Given the description of an element on the screen output the (x, y) to click on. 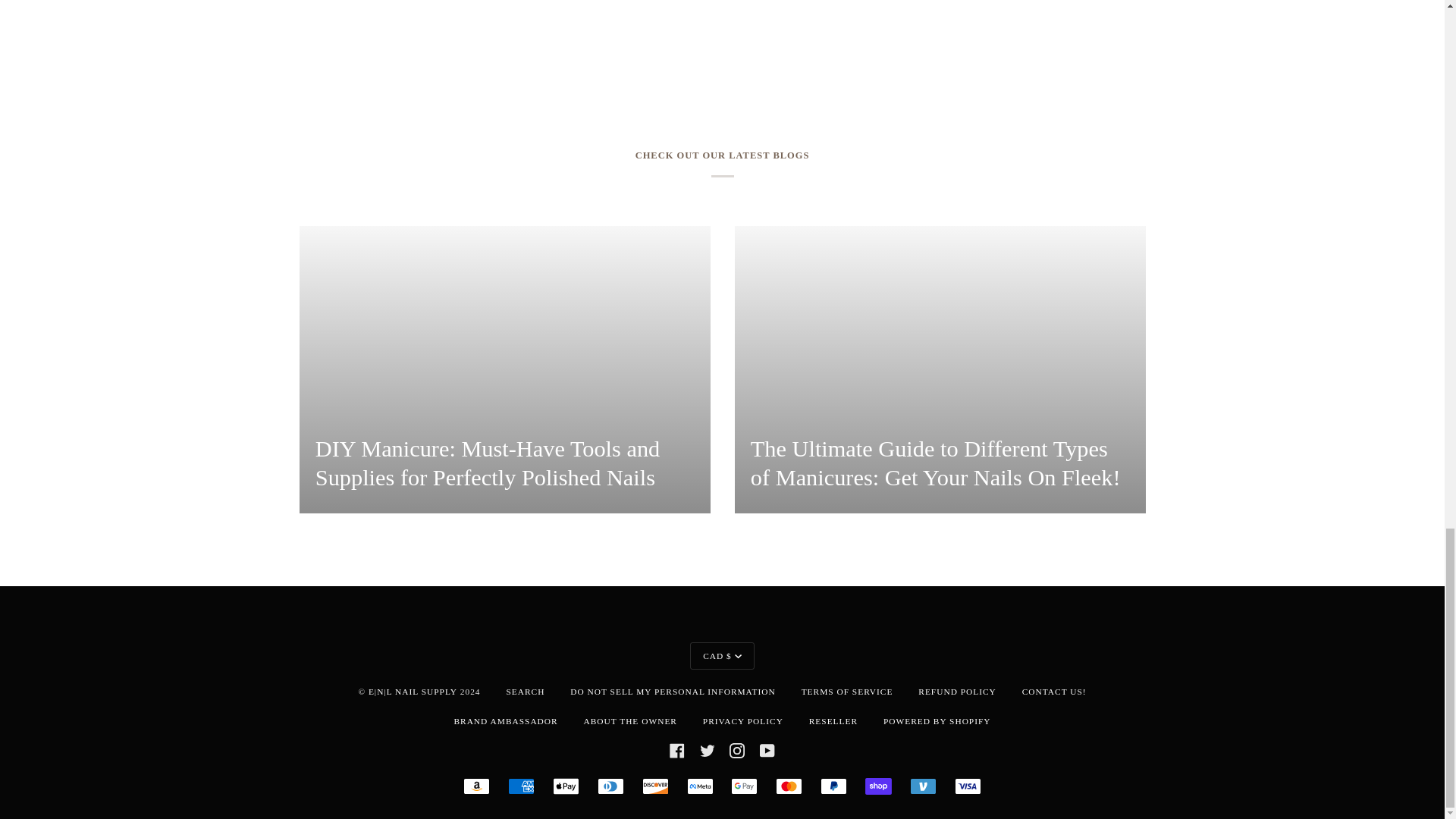
DINERS CLUB (610, 786)
PAYPAL (834, 786)
Instagram (736, 749)
SHOP PAY (877, 786)
GOOGLE PAY (743, 786)
Facebook (676, 749)
AMAZON (476, 786)
APPLE PAY (566, 786)
META PAY (700, 786)
AMERICAN EXPRESS (521, 786)
YouTube (767, 749)
Twitter (707, 749)
MASTERCARD (789, 786)
DISCOVER (655, 786)
